Given the description of an element on the screen output the (x, y) to click on. 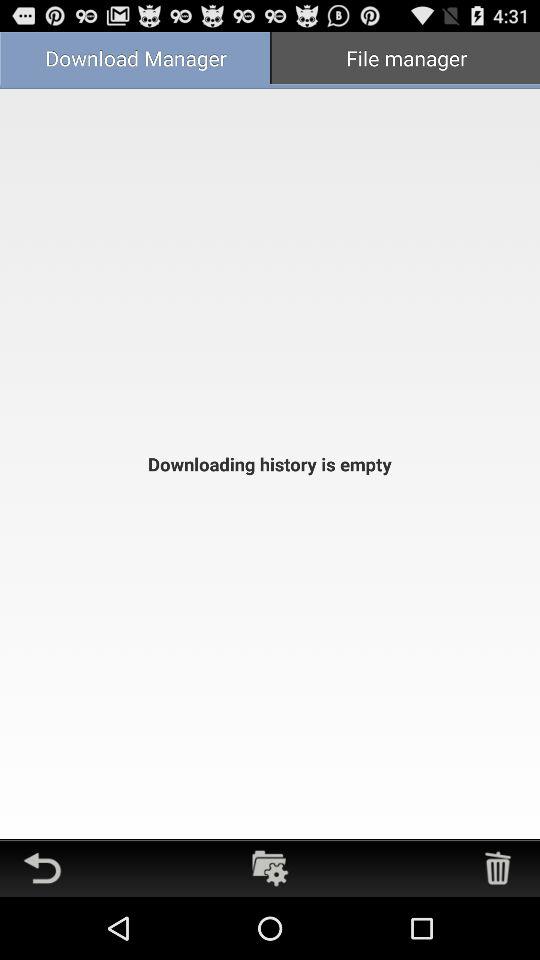
launch the app to the right of the download manager icon (405, 60)
